Given the description of an element on the screen output the (x, y) to click on. 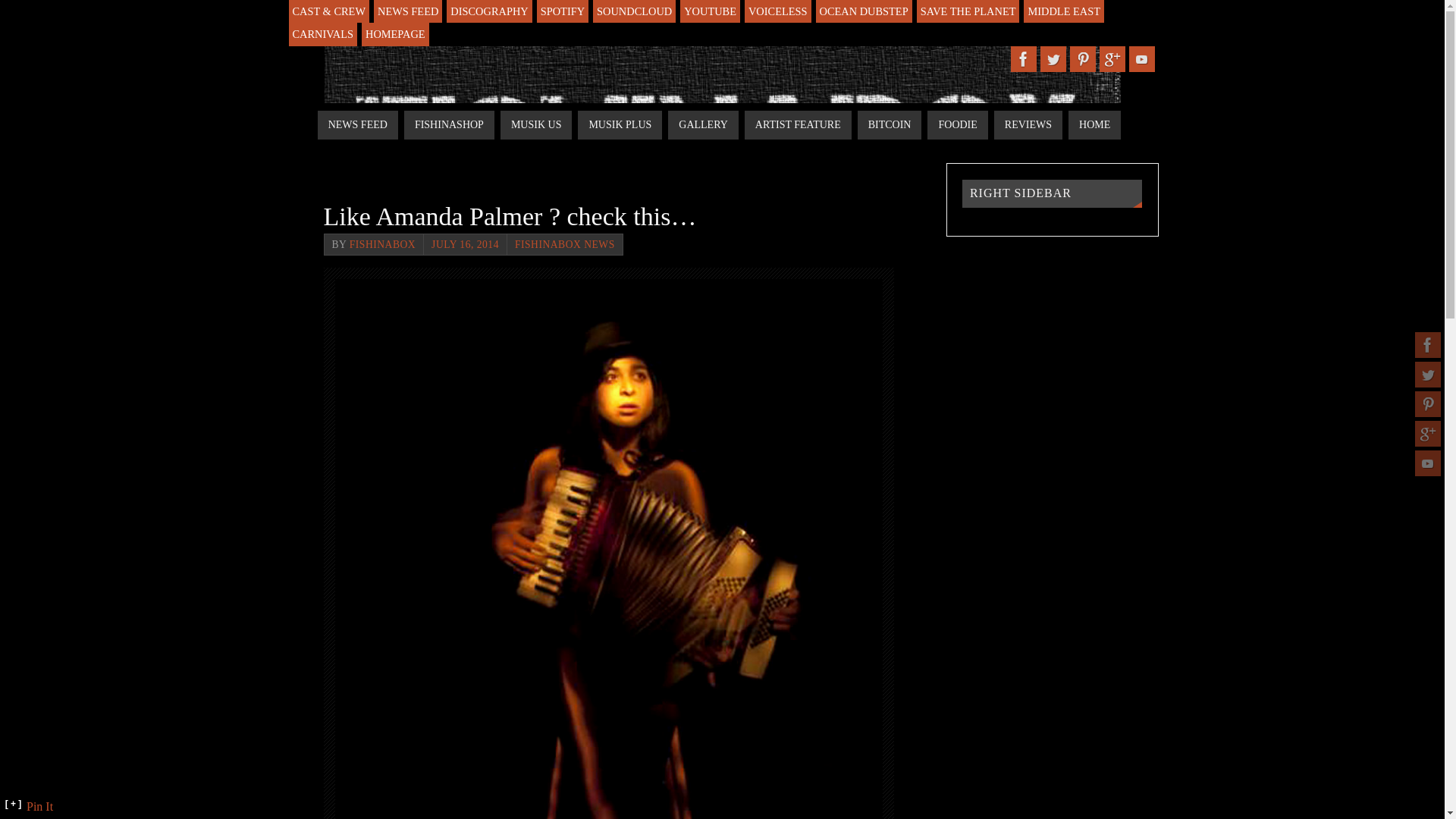
Facebook (1428, 344)
MUSIK US (536, 124)
YouTube (1428, 462)
GALLERY (703, 124)
GooglePlus (1112, 58)
View all posts by FISHINABOX (381, 244)
REVIEWS (1028, 124)
FISHINABOX RECORDS (722, 128)
HOMEPAGE (395, 33)
OCEAN DUBSTEP (863, 11)
